Given the description of an element on the screen output the (x, y) to click on. 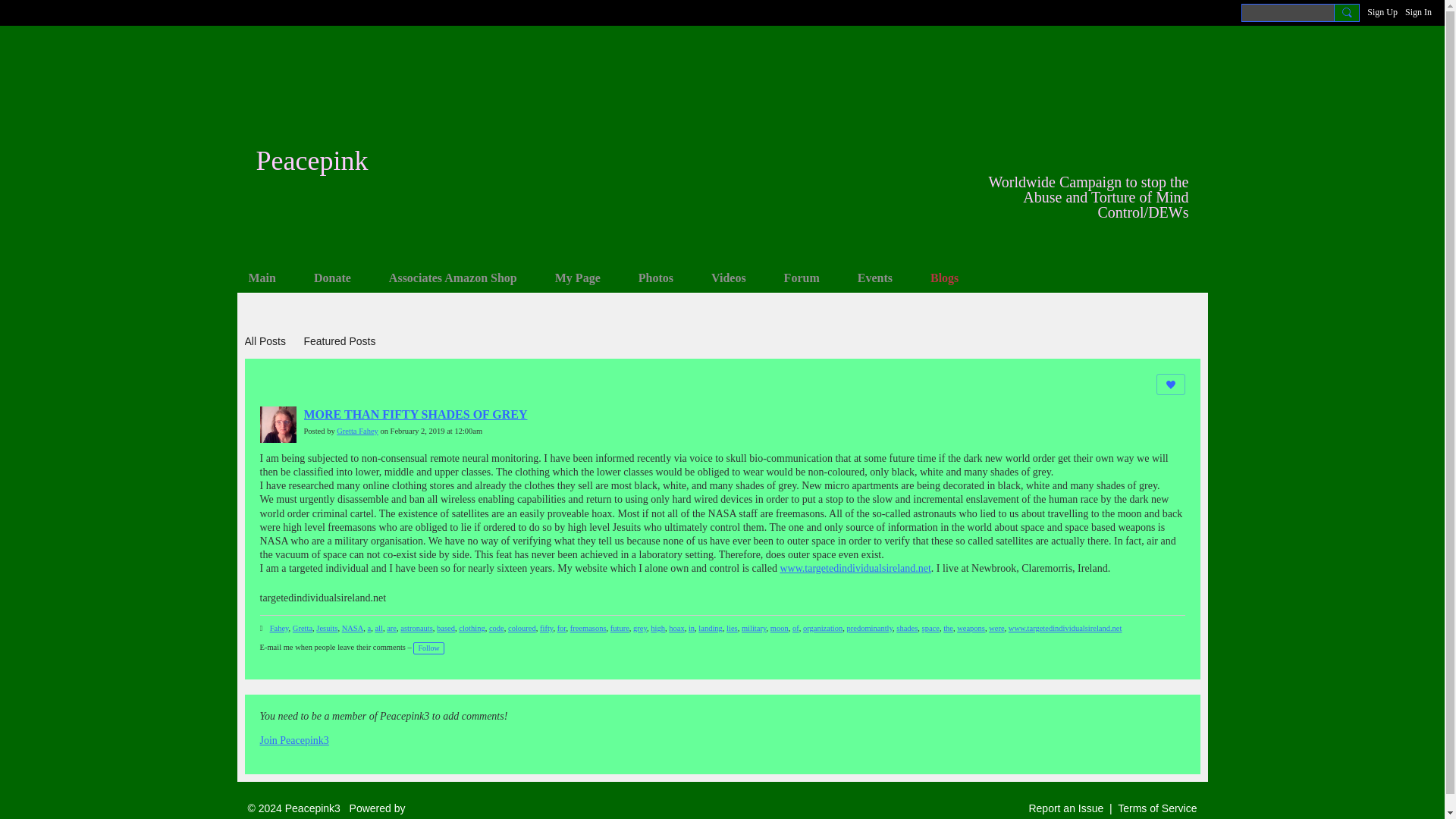
all (378, 628)
Like (1170, 383)
Sign Up (1382, 12)
are (391, 628)
Fahey (278, 628)
Jesuits (326, 628)
Peacepink (312, 160)
NASA (353, 628)
Tags: (263, 628)
Gretta (302, 628)
Featured Posts (338, 341)
All Posts (264, 341)
Blogs (943, 277)
Videos (728, 277)
Gretta Fahey (357, 430)
